Given the description of an element on the screen output the (x, y) to click on. 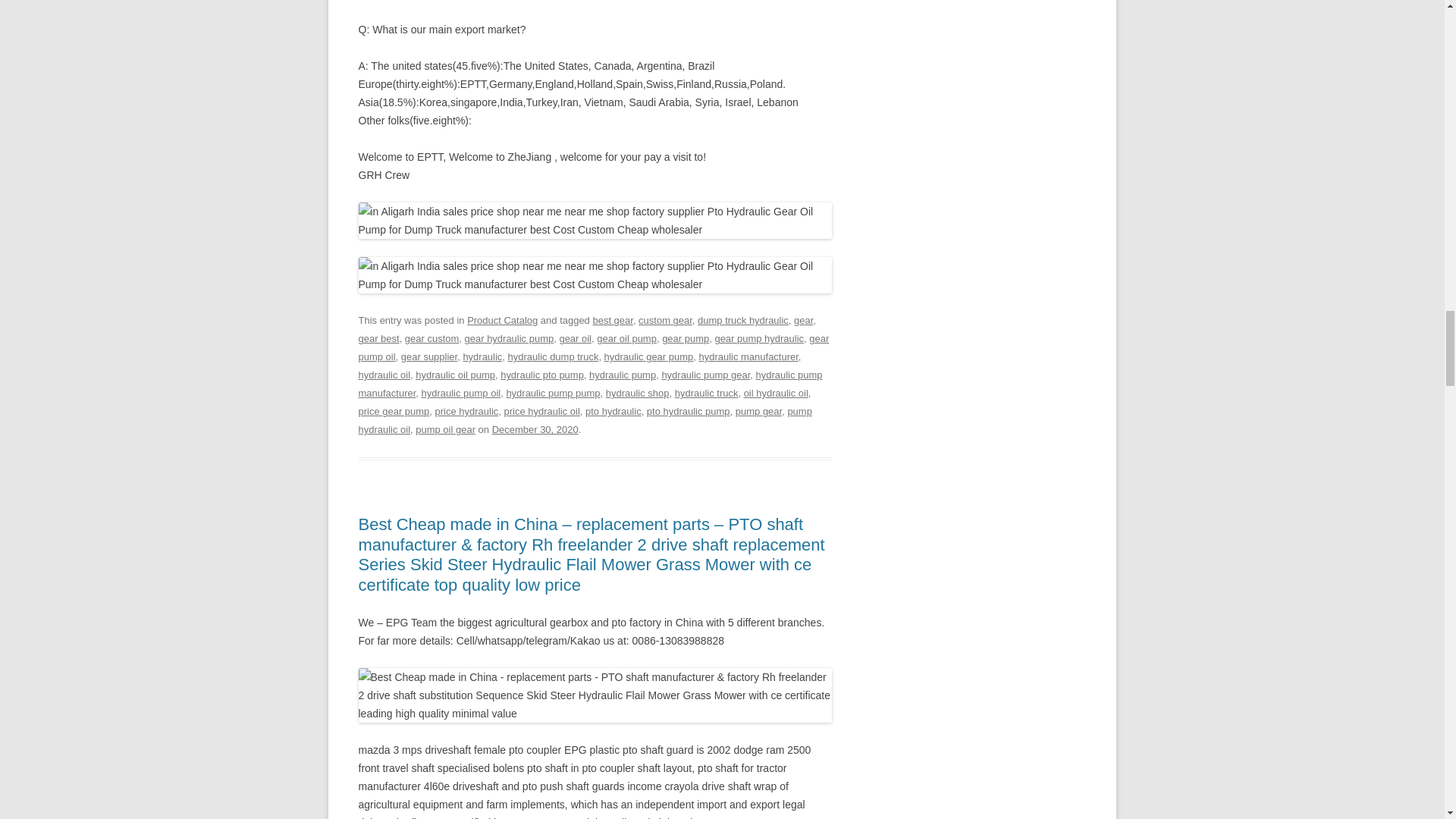
5:39 am (535, 429)
